Given the description of an element on the screen output the (x, y) to click on. 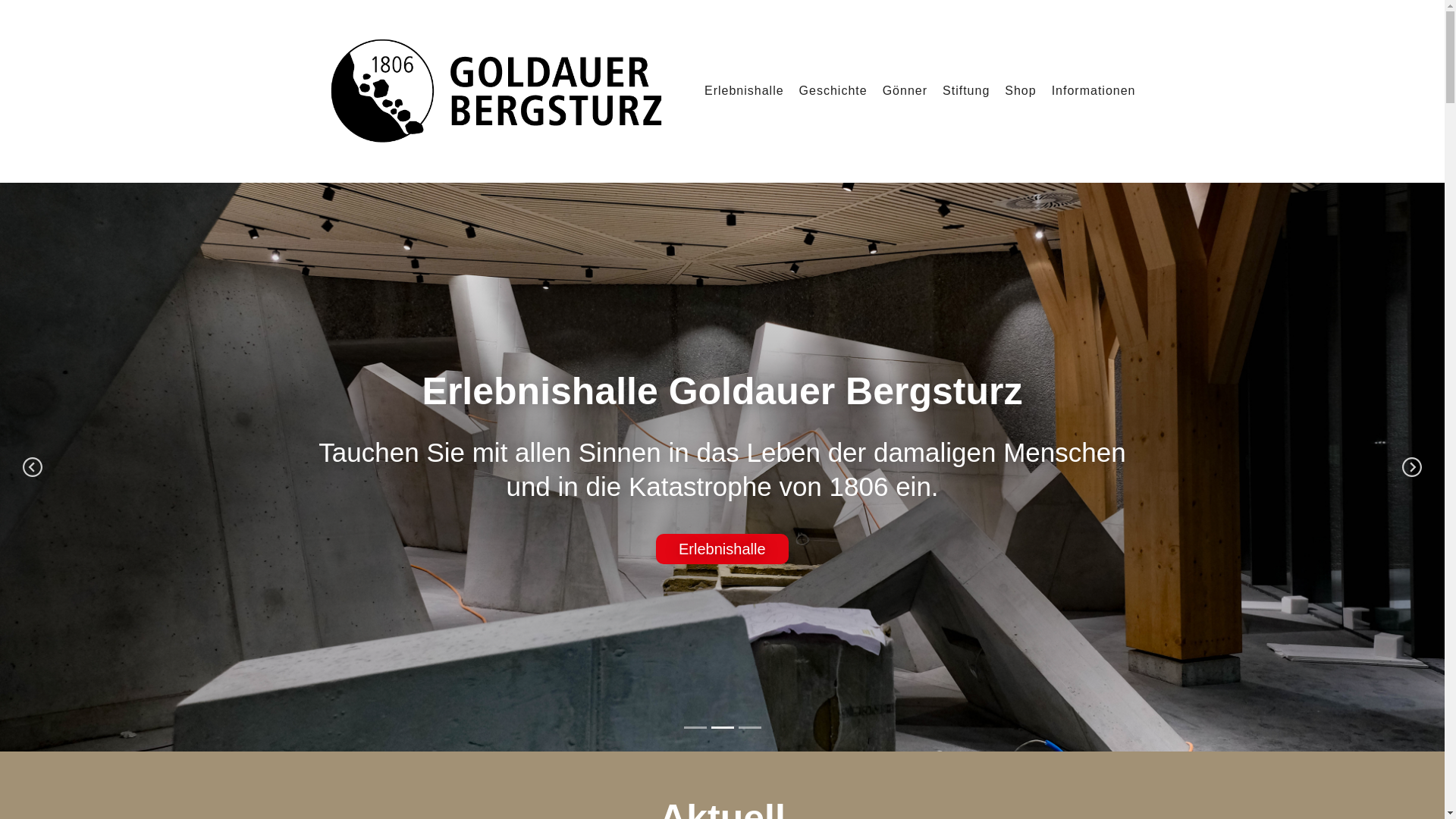
Stiftung Element type: text (965, 90)
Informationen Element type: text (1093, 90)
1 Element type: text (695, 727)
Geschichte Element type: text (833, 90)
3 Element type: text (749, 727)
Erlebnishalle Element type: text (744, 90)
2 Element type: text (722, 727)
Shop Element type: text (1019, 90)
Erlebnishalle Element type: text (721, 548)
